Given the description of an element on the screen output the (x, y) to click on. 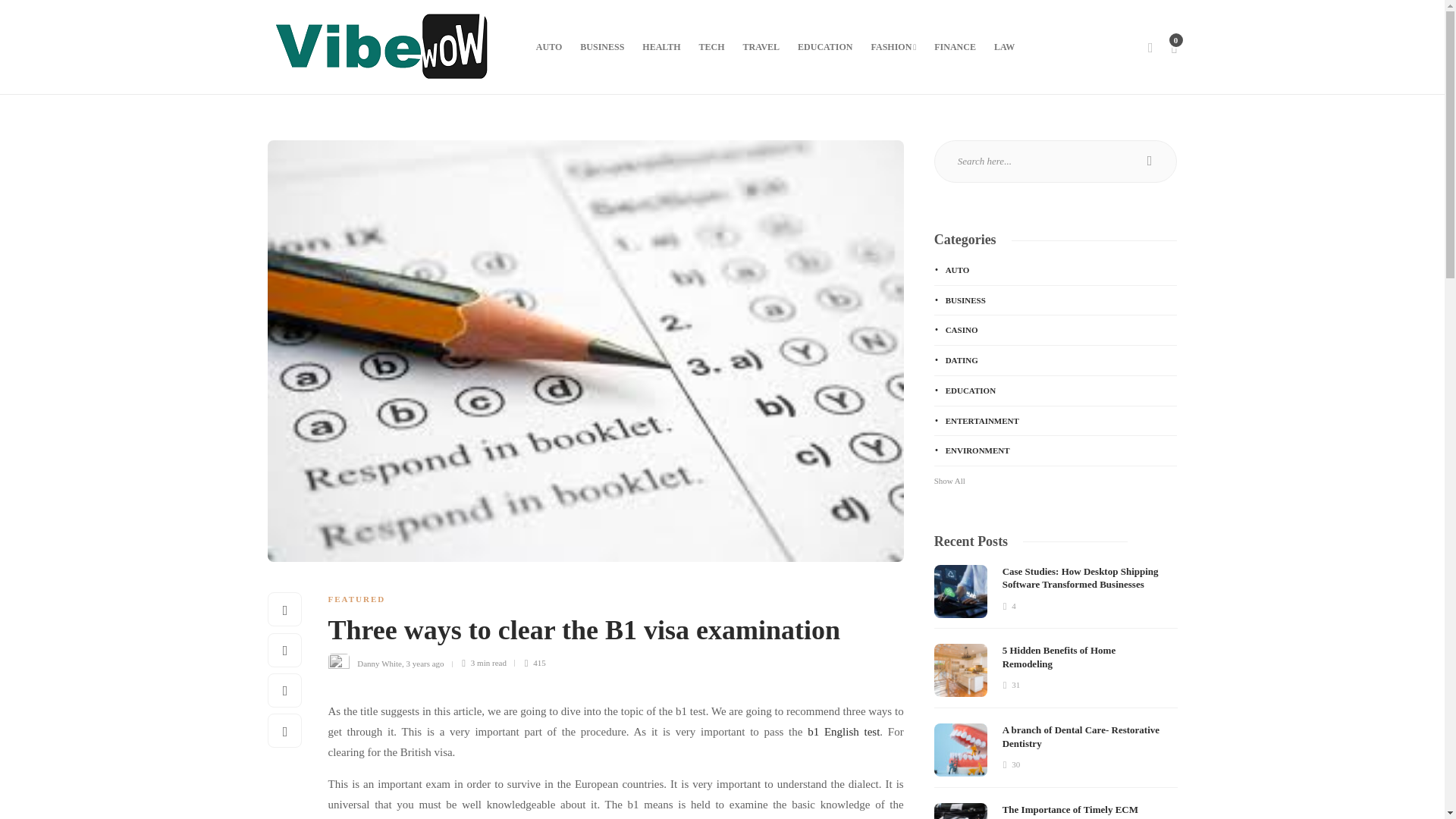
Three ways to clear the B1 visa examination  (603, 634)
3 years ago (425, 662)
HEALTH (660, 47)
b1 English test (843, 731)
TECH (711, 47)
Search text (1055, 161)
AUTO (548, 47)
BUSINESS (601, 47)
FASHION (893, 47)
FEATURED (356, 598)
FINANCE (954, 47)
TRAVEL (760, 47)
EDUCATION (824, 47)
LAW (1004, 47)
0 (1173, 47)
